Given the description of an element on the screen output the (x, y) to click on. 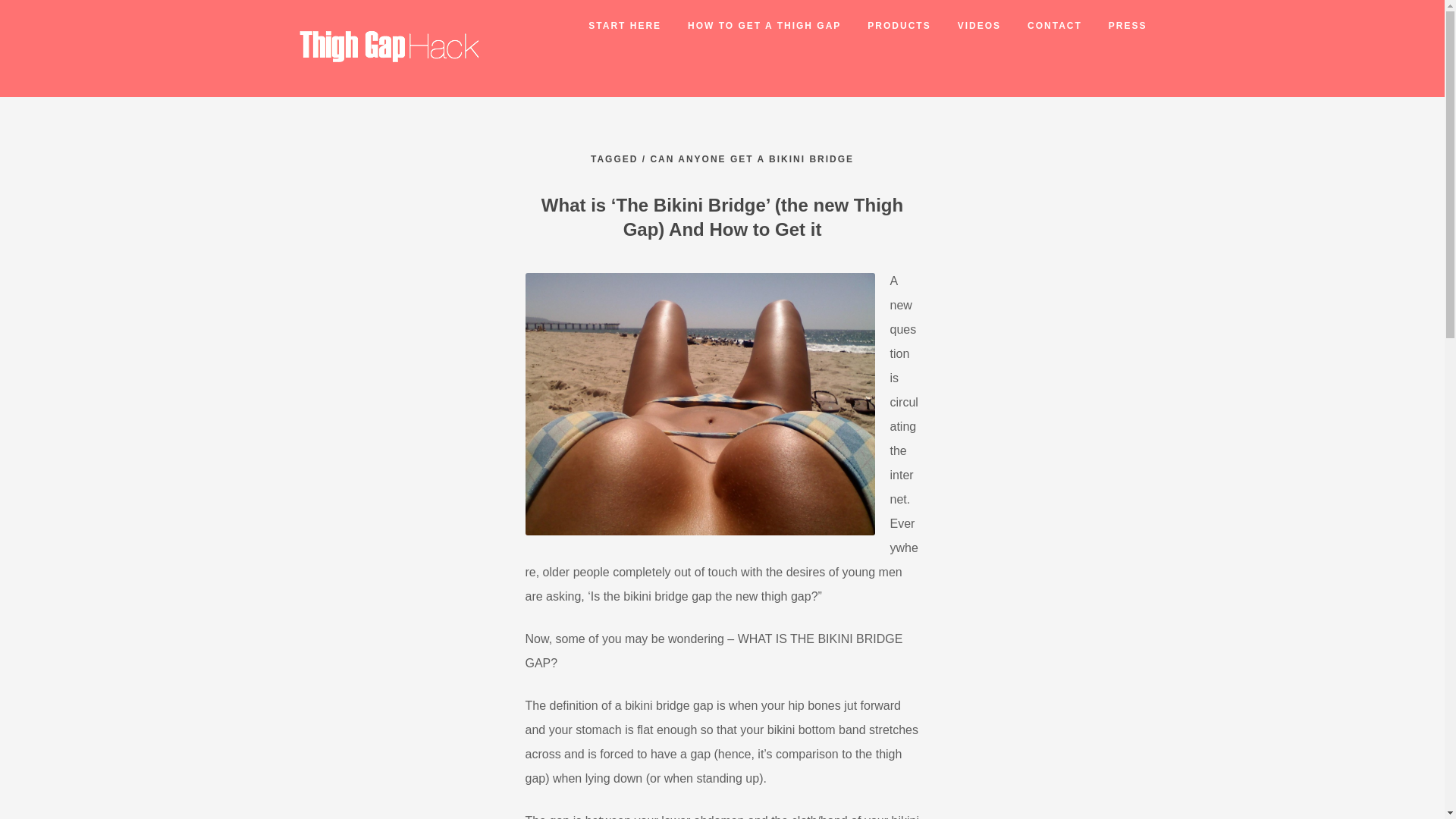
CONTACT (1041, 25)
PRODUCTS (885, 25)
START HERE (611, 25)
HOW TO GET A THIGH GAP (751, 25)
VIDEOS (966, 25)
PRESS (1114, 25)
